Given the description of an element on the screen output the (x, y) to click on. 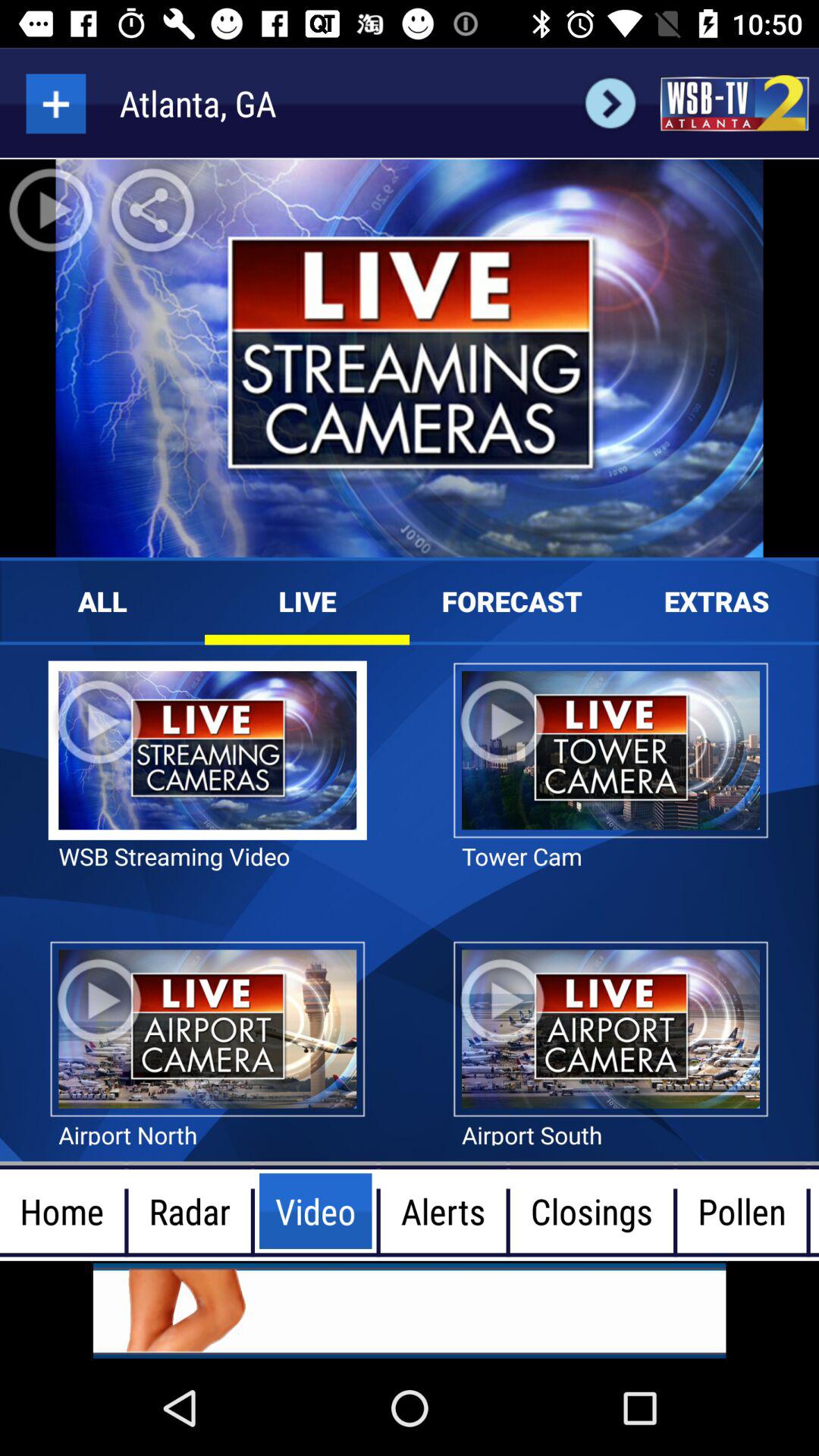
advertisement image (409, 1310)
